Given the description of an element on the screen output the (x, y) to click on. 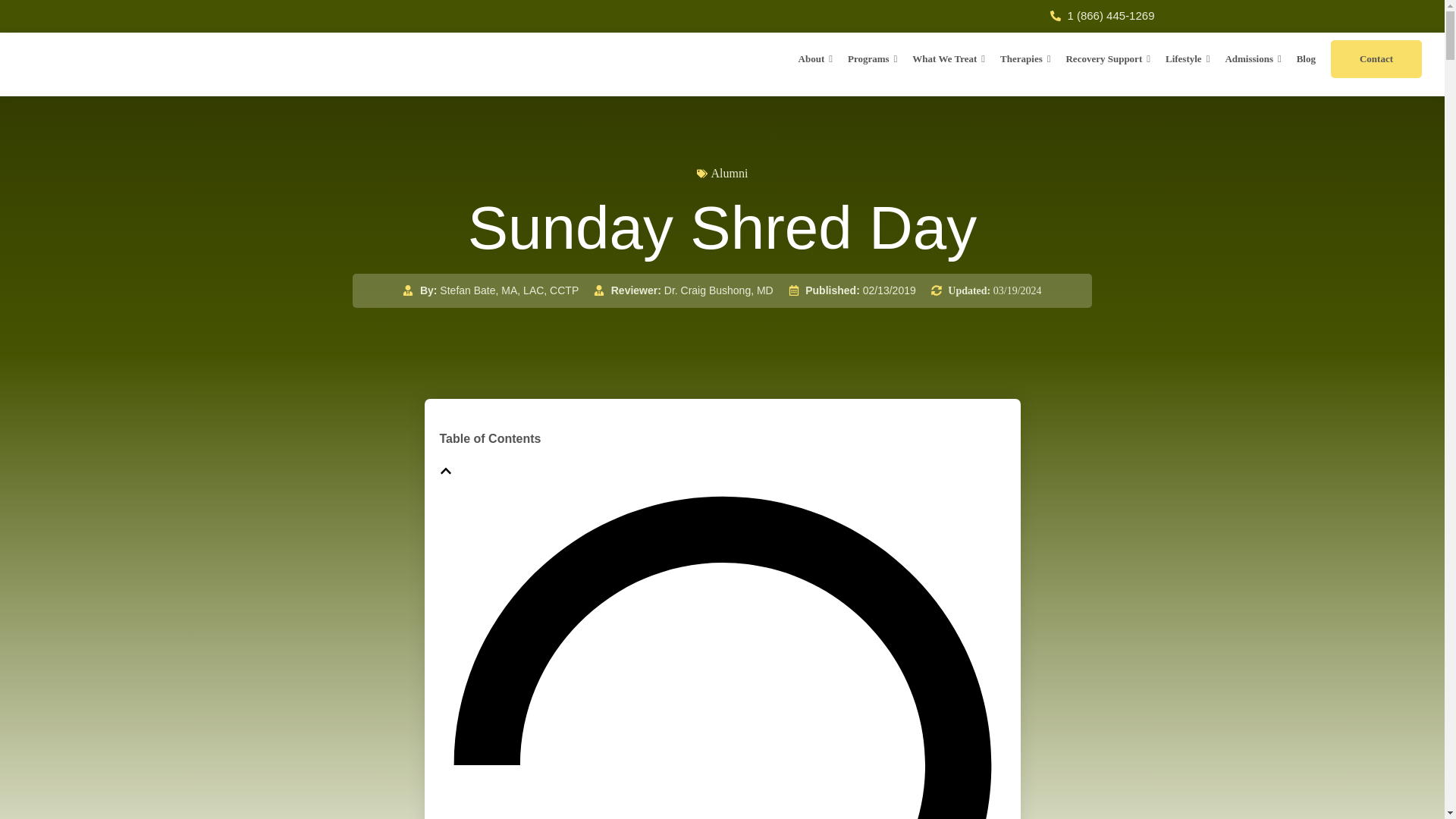
Jaywalker - Mens Drug Rehab in Colorado - Jaywalker (114, 63)
What We Treat (948, 57)
About (815, 57)
Programs (872, 57)
